Given the description of an element on the screen output the (x, y) to click on. 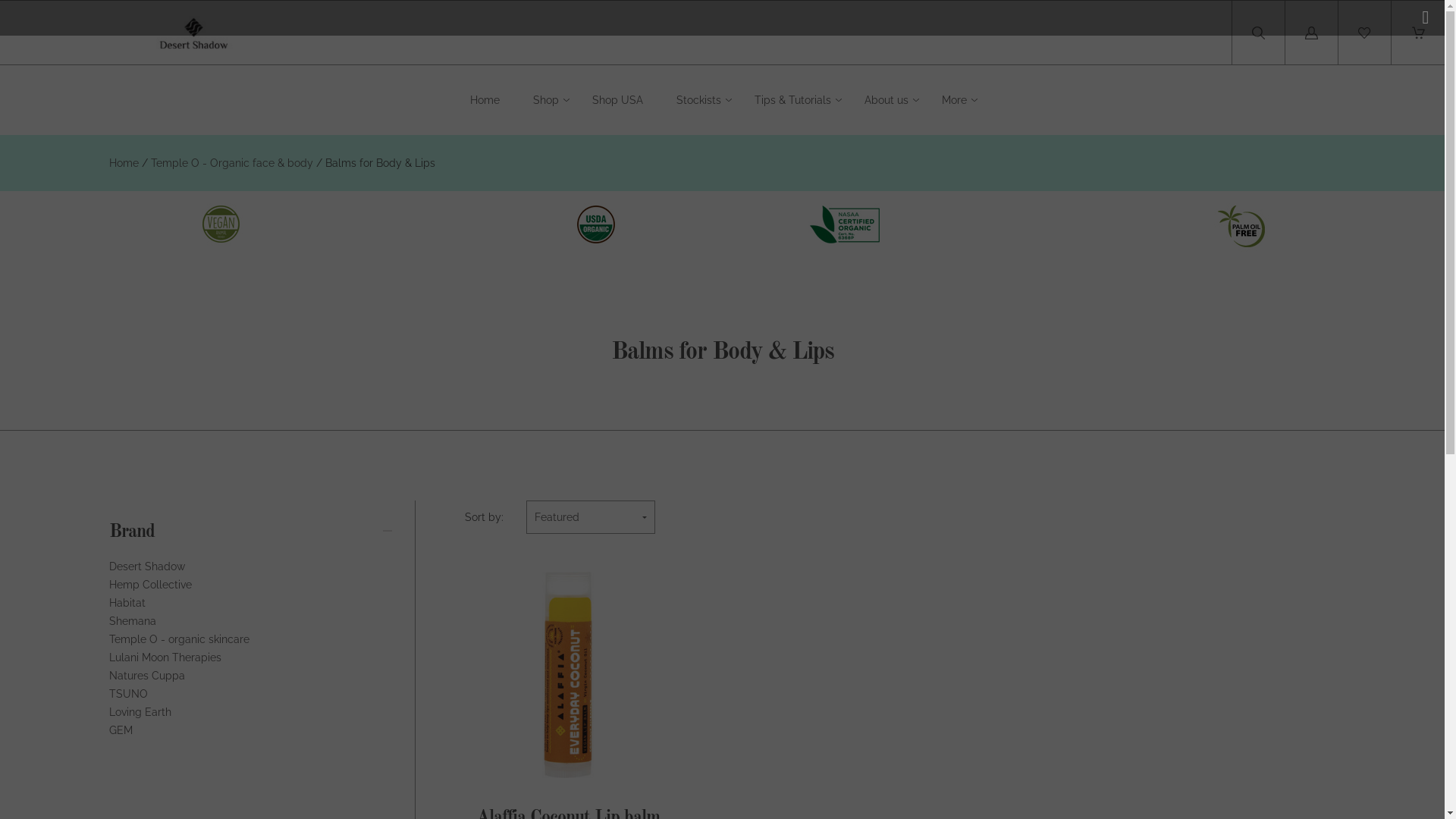
Desert Shadow Element type: text (147, 566)
Habitat Element type: text (127, 602)
GEM Element type: text (120, 730)
Tips & Tutorials Element type: text (792, 100)
Temple O - Organic face & body Element type: text (231, 162)
About us Element type: text (886, 100)
Hemp Collective Element type: text (150, 584)
Stockists Element type: text (698, 100)
Lulani Moon Therapies Element type: text (165, 657)
Temple O - organic skincare Element type: text (179, 639)
Natures Cuppa Element type: text (147, 675)
More Element type: text (953, 100)
Loving Earth Element type: text (140, 712)
Log in Element type: text (1311, 32)
Shop Element type: text (545, 100)
Home Element type: text (484, 100)
TSUNO Element type: text (128, 693)
Shop USA Element type: text (617, 100)
Home Element type: text (123, 162)
Shemana Element type: text (132, 621)
